Given the description of an element on the screen output the (x, y) to click on. 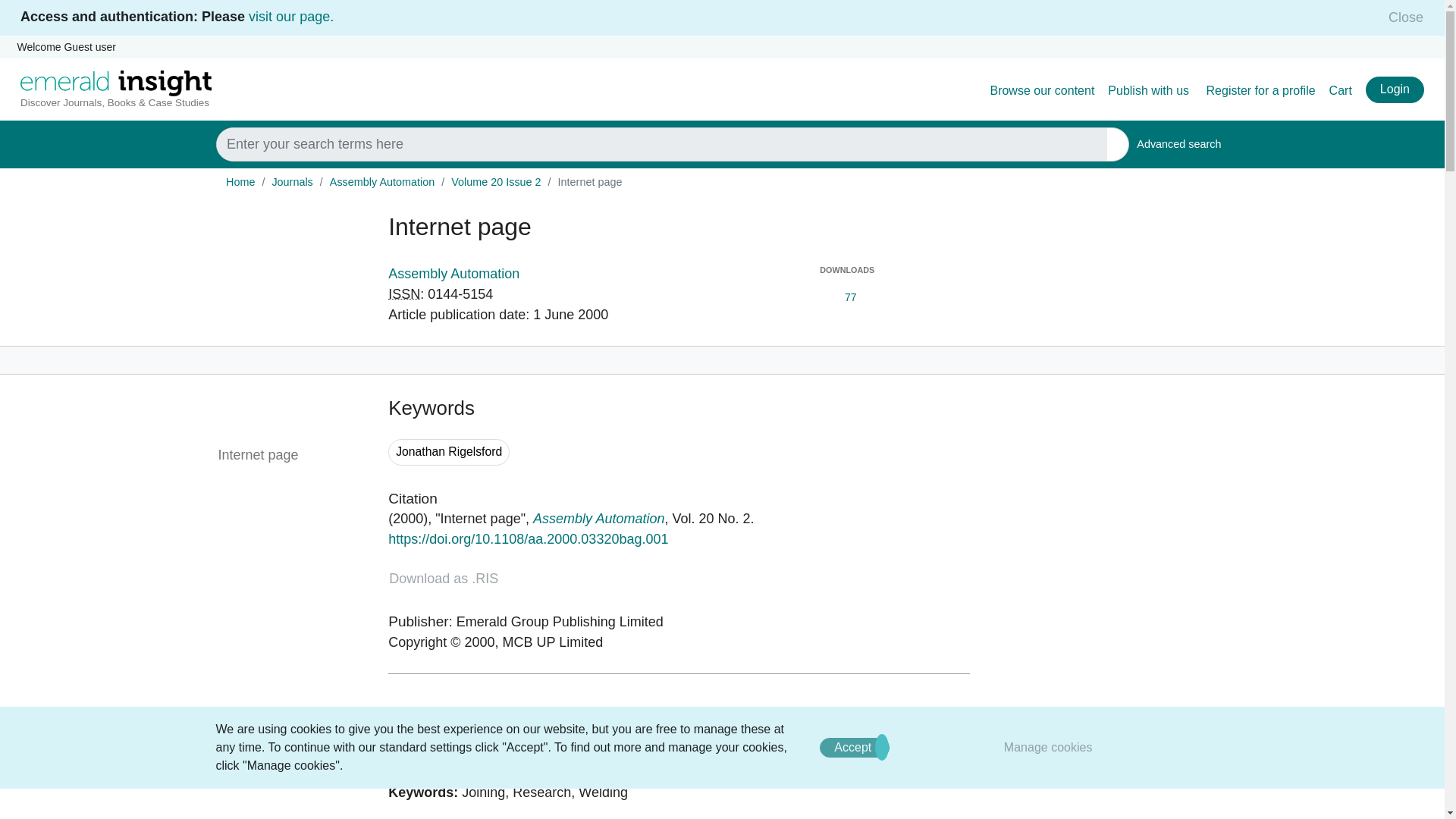
International Standard Serial Number. (404, 294)
SUBMIT (1117, 143)
Search for keyword Jonathan Rigelsford (448, 452)
Cart (1340, 90)
Register for a profile (1261, 90)
Home (239, 182)
Login (1394, 89)
Manage cookies (1047, 747)
Internet page (291, 455)
Publish with us (1150, 90)
Close (1401, 17)
visit our page. (290, 16)
Accept (1178, 144)
